Given the description of an element on the screen output the (x, y) to click on. 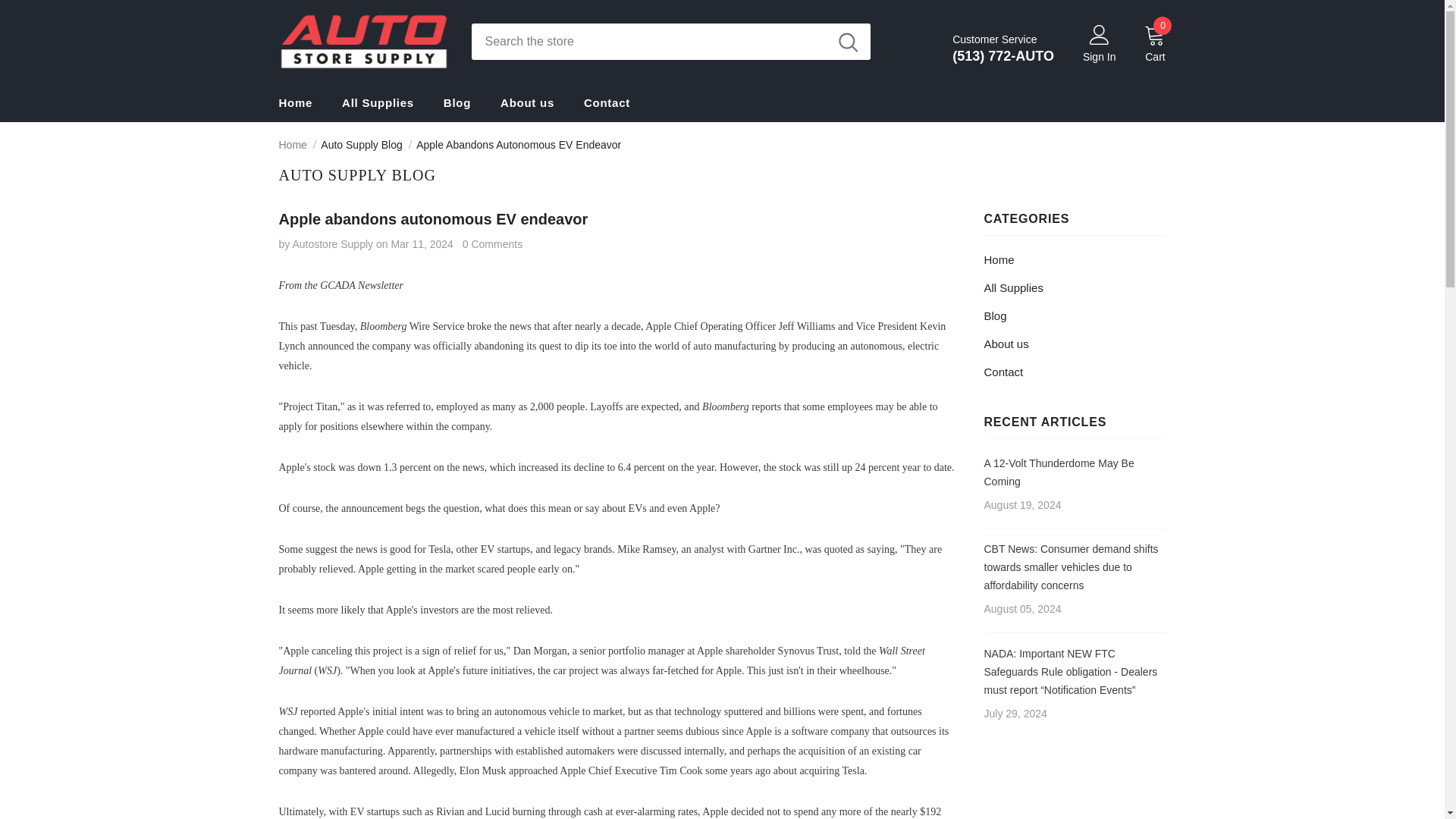
Contact (1003, 371)
Logo (363, 41)
All Supplies (377, 102)
Home (296, 102)
Auto Supply Blog (360, 144)
All Supplies (1013, 287)
Home (999, 259)
Contact (606, 102)
User Icon (1098, 34)
